Given the description of an element on the screen output the (x, y) to click on. 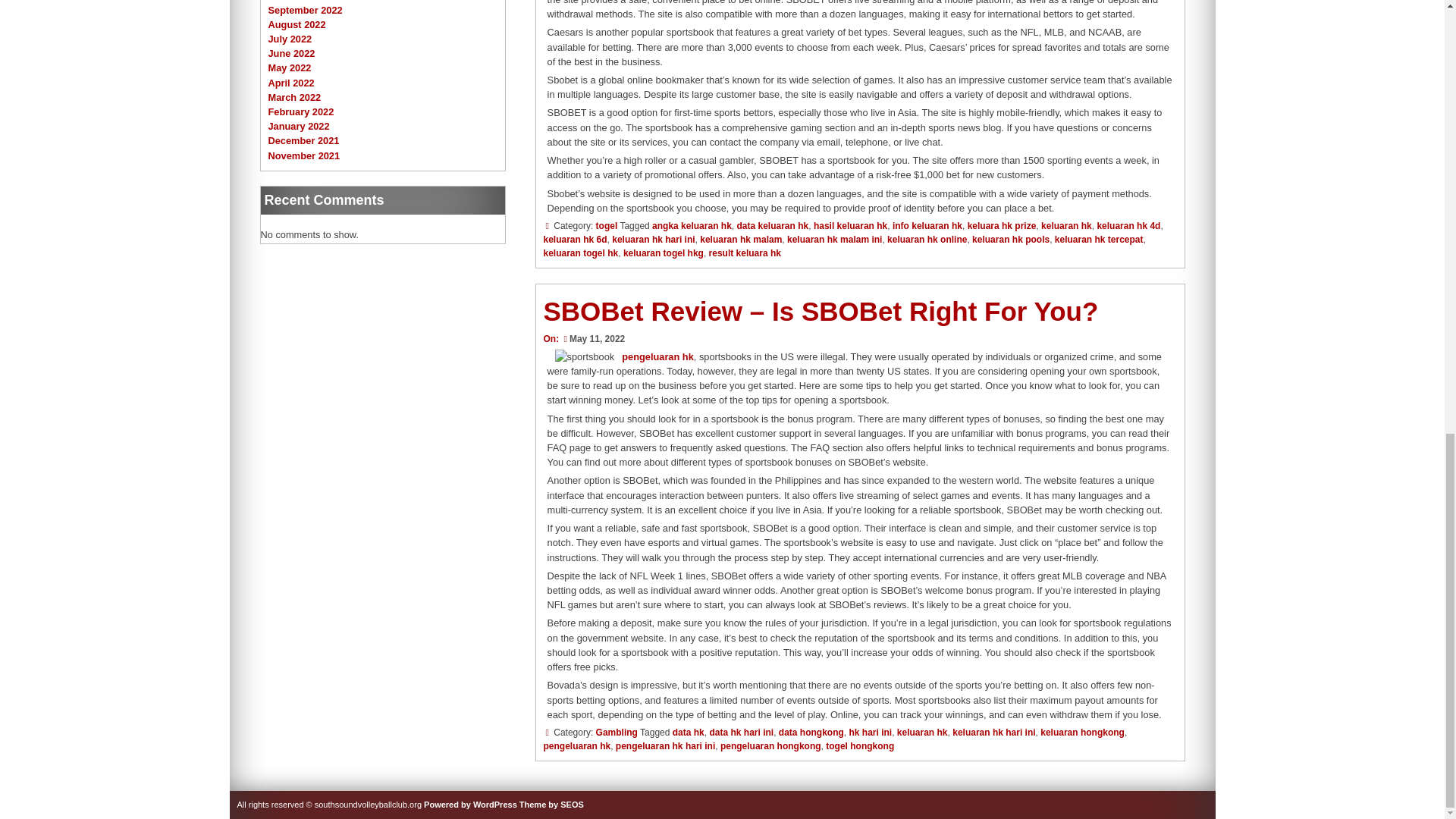
data keluaran hk (772, 225)
keluaran togel hk (580, 253)
angka keluaran hk (692, 225)
keluaran hk malam ini (834, 239)
keluara hk prize (1002, 225)
result keluara hk (744, 253)
togel (606, 225)
keluaran togel hkg (663, 253)
info keluaran hk (927, 225)
keluaran hk tercepat (1098, 239)
hasil keluaran hk (849, 225)
keluaran hk pools (1010, 239)
keluaran hk 6d (575, 239)
keluaran hk (1066, 225)
keluaran hk hari ini (652, 239)
